Given the description of an element on the screen output the (x, y) to click on. 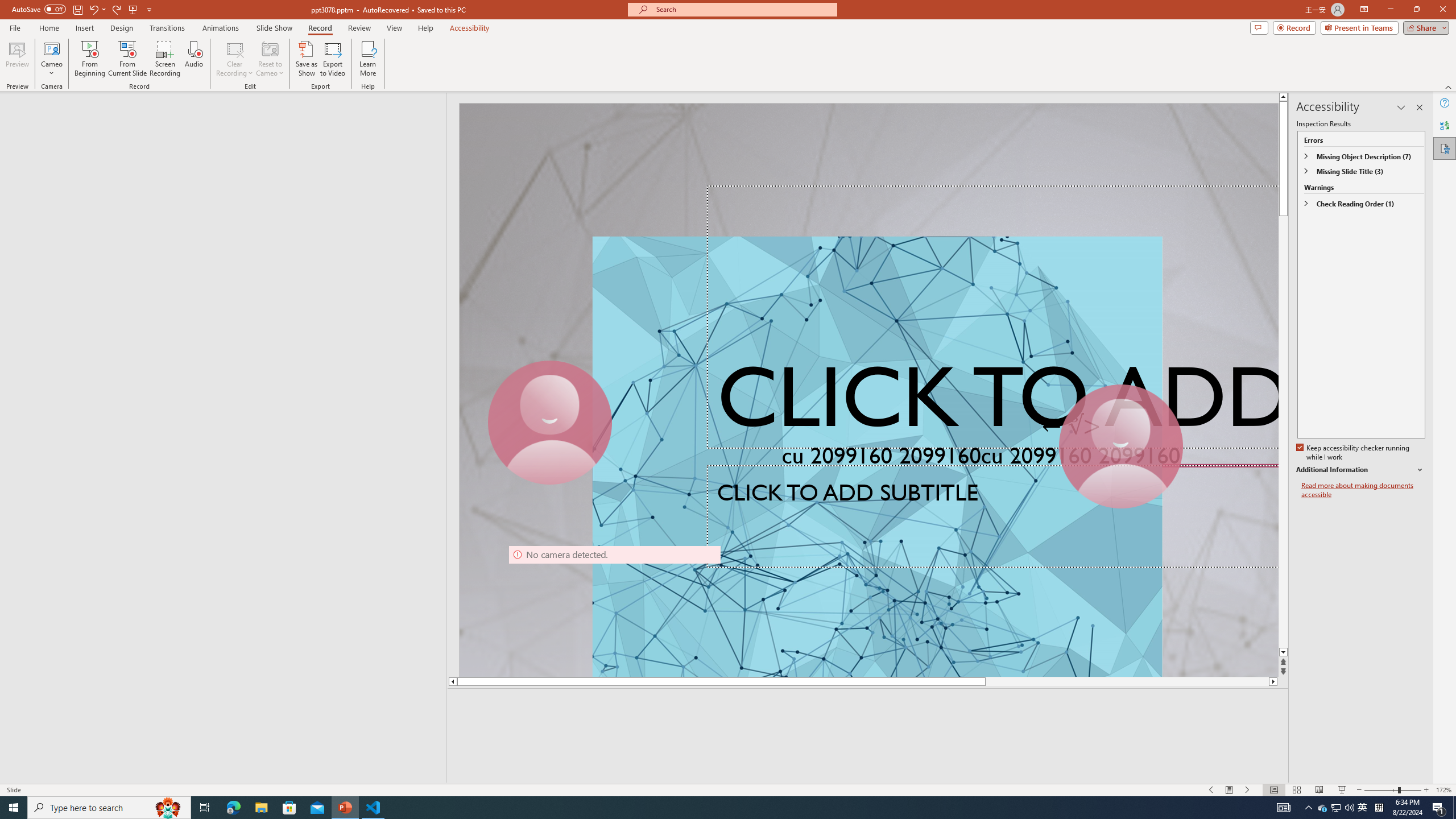
Slide Show Next On (1247, 790)
Read more about making documents accessible (1363, 489)
Export to Video (332, 58)
Clear Recording (234, 58)
Zoom 172% (1443, 790)
